Given the description of an element on the screen output the (x, y) to click on. 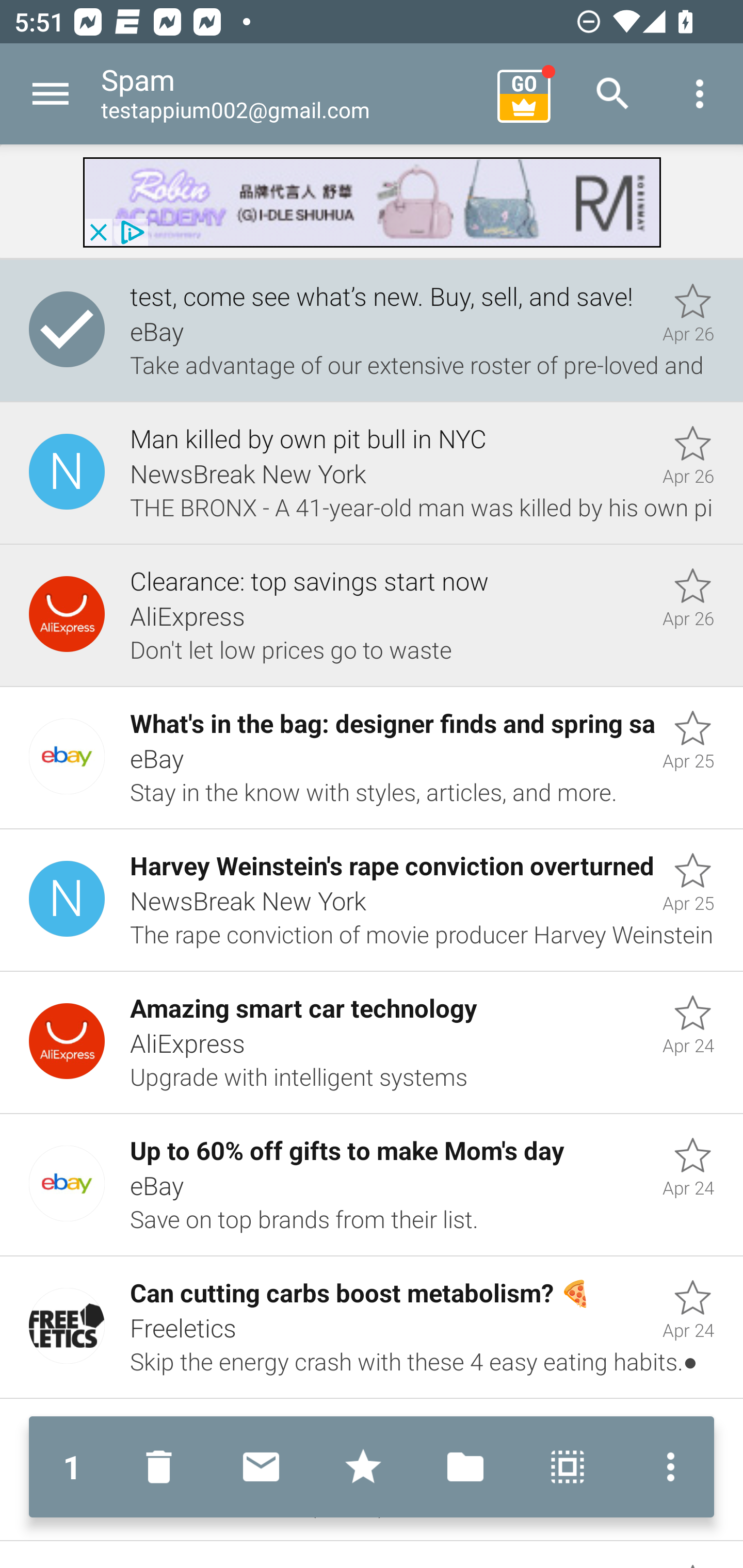
Navigate up (50, 93)
Spam testappium002@gmail.com (291, 93)
Search (612, 93)
More options (699, 93)
close_button (97, 231)
privacy_small (130, 231)
1 1 message (71, 1466)
Move to Deleted (162, 1466)
Mark unread (261, 1466)
Mark with stars (363, 1466)
Move to folder… (465, 1466)
Select all (567, 1466)
More options (666, 1466)
